Given the description of an element on the screen output the (x, y) to click on. 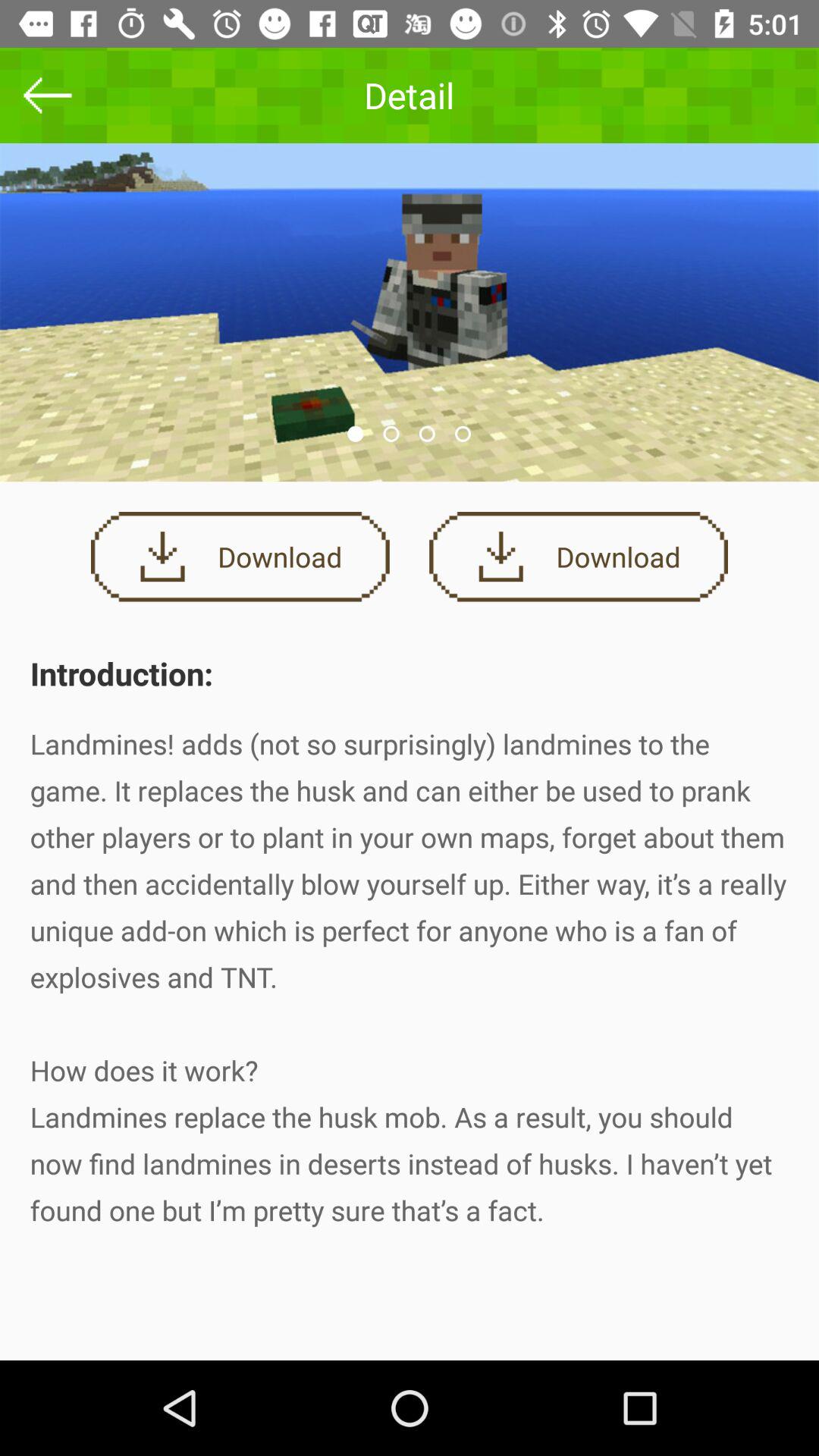
launch item at the top left corner (47, 95)
